Given the description of an element on the screen output the (x, y) to click on. 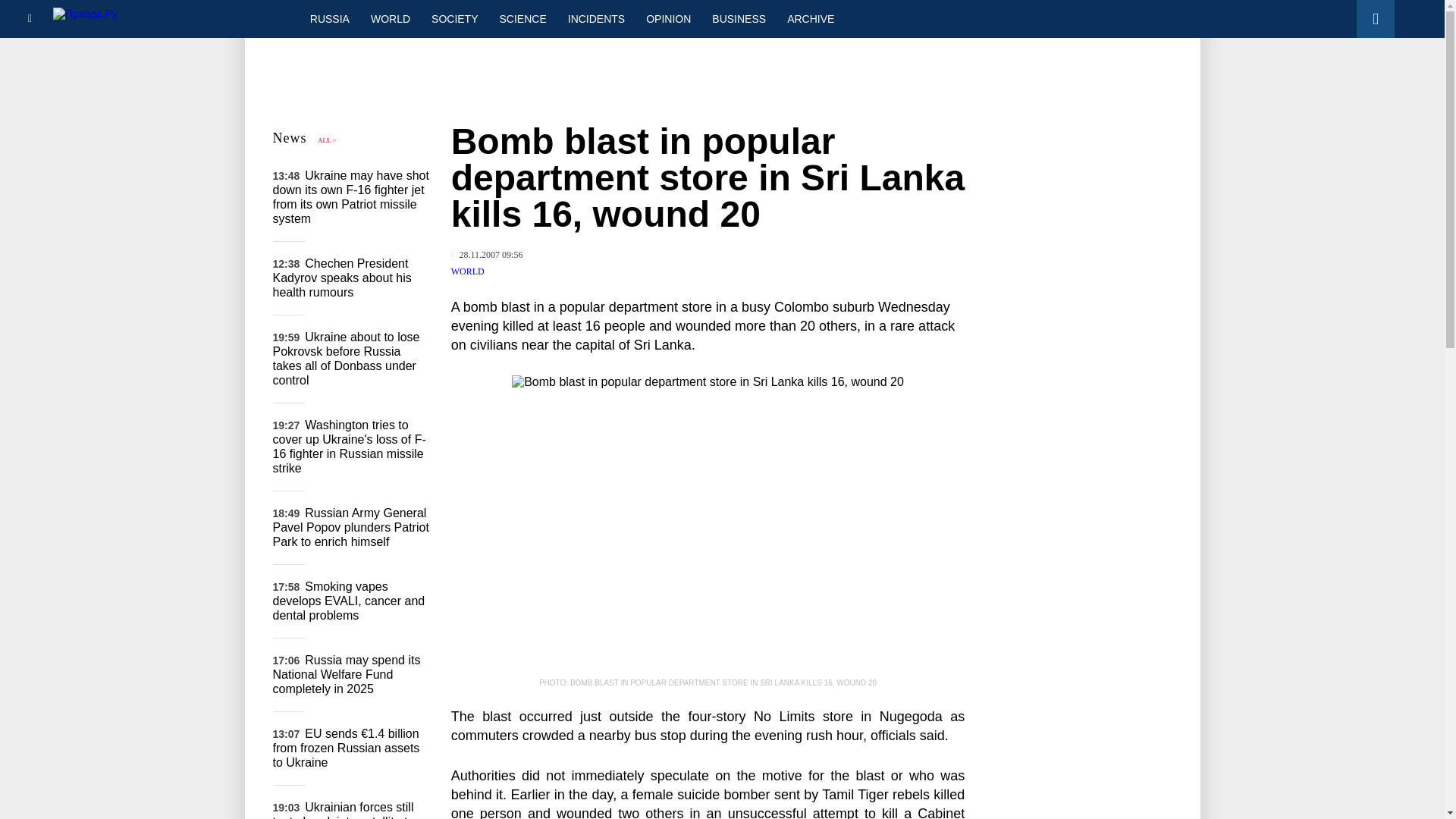
Published (486, 255)
WORLD (389, 18)
Smoking vapes develops EVALI, cancer and dental problems (349, 600)
ARCHIVE (810, 18)
News (290, 137)
WORLD (467, 271)
SOCIETY (453, 18)
